Given the description of an element on the screen output the (x, y) to click on. 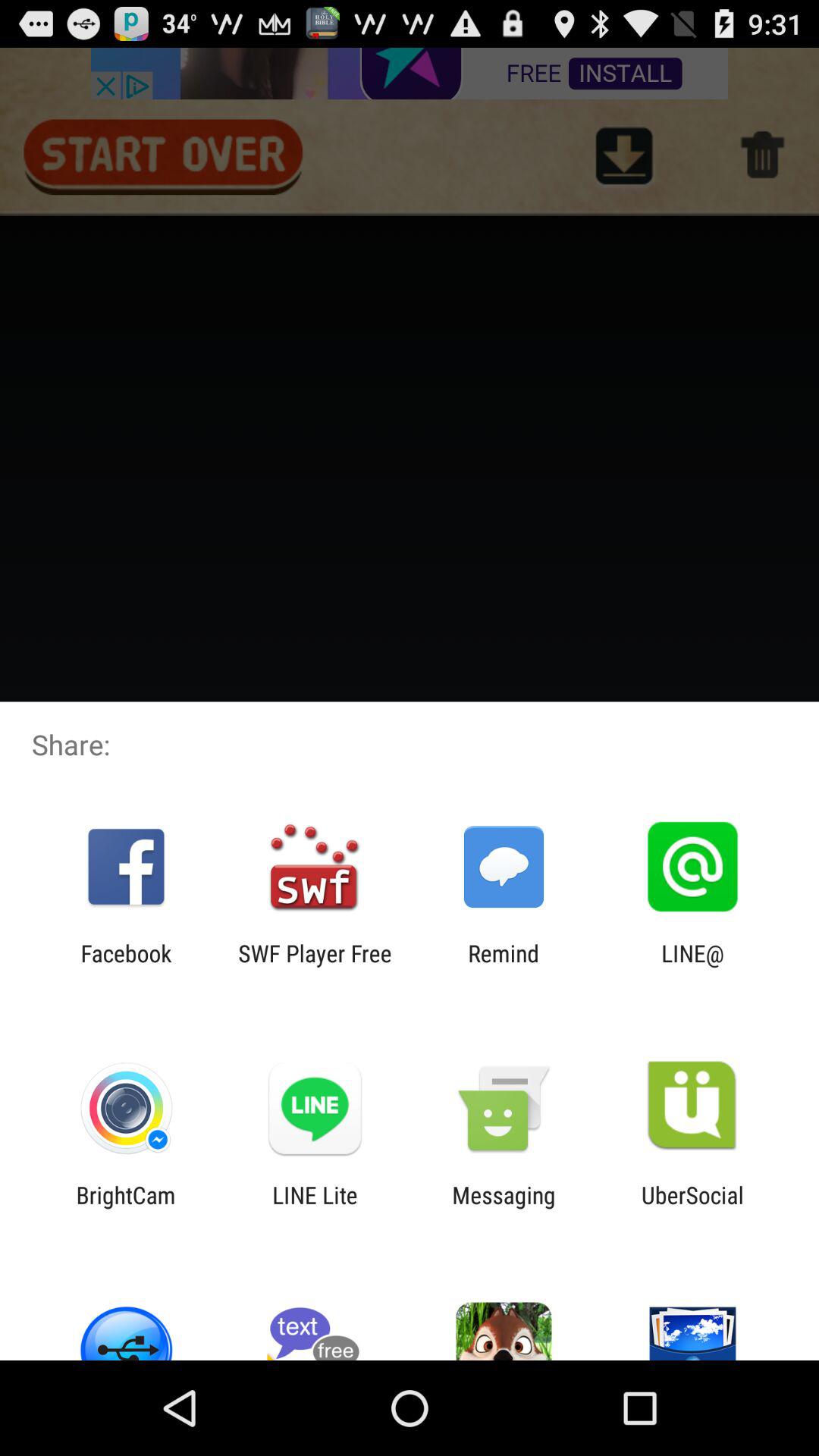
tap item next to ubersocial item (503, 1208)
